Given the description of an element on the screen output the (x, y) to click on. 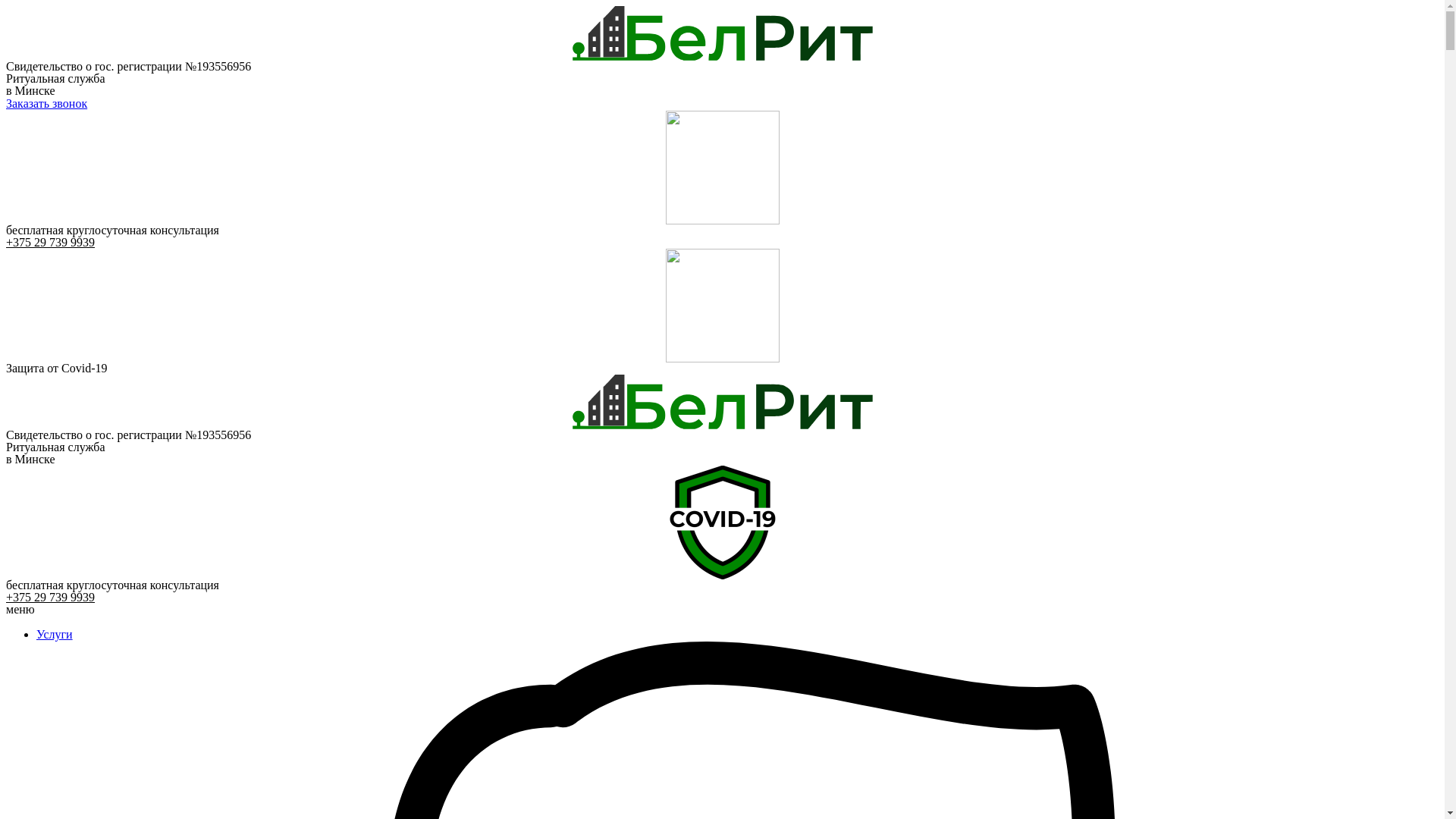
+375 29 739 9939 Element type: text (50, 596)
+375 29 739 9939 Element type: text (50, 241)
